Given the description of an element on the screen output the (x, y) to click on. 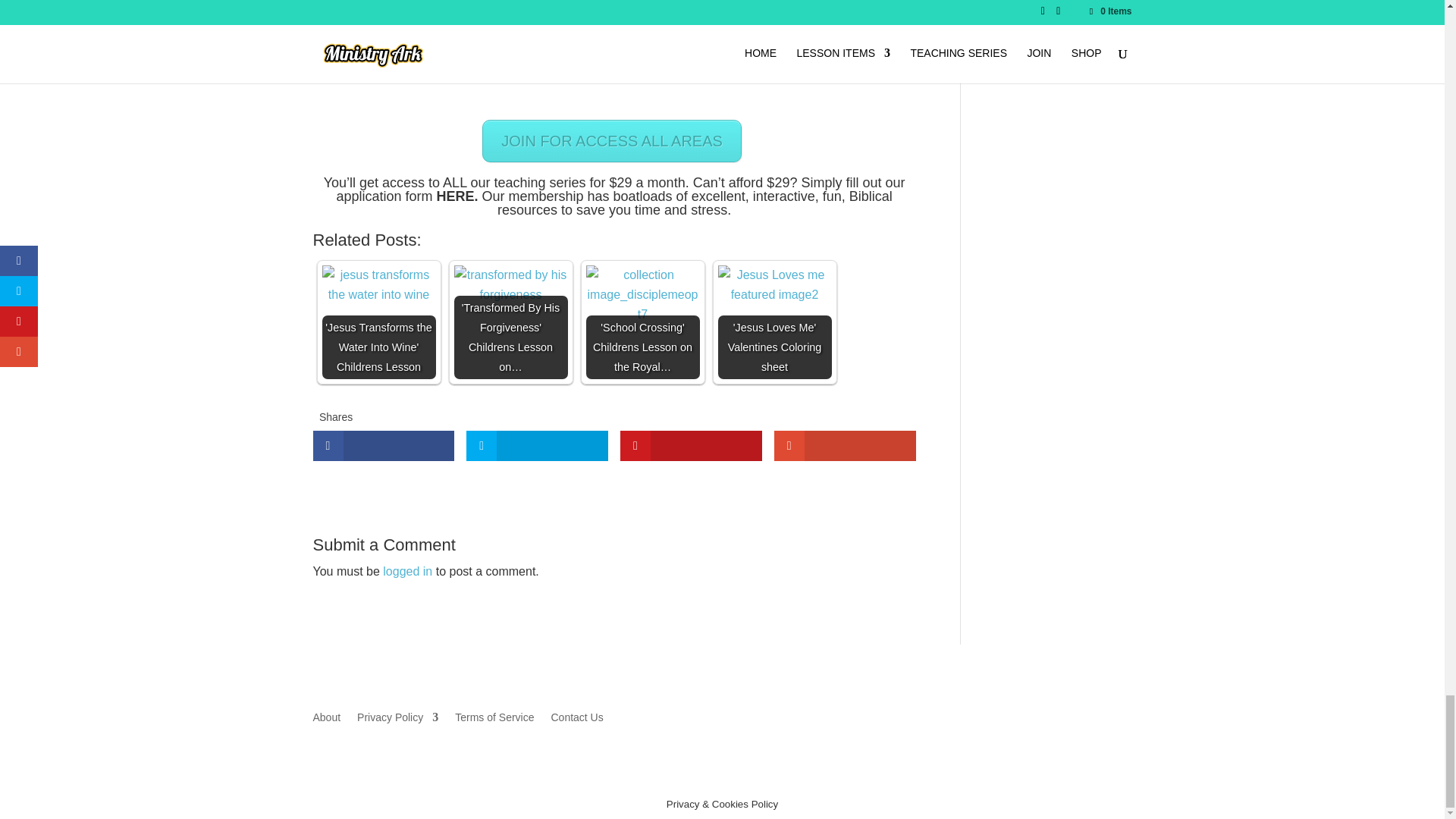
'Jesus Loves Me' Valentines Coloring sheet (774, 284)
'Jesus Transforms the Water Into Wine' Childrens Lesson (378, 284)
